Given the description of an element on the screen output the (x, y) to click on. 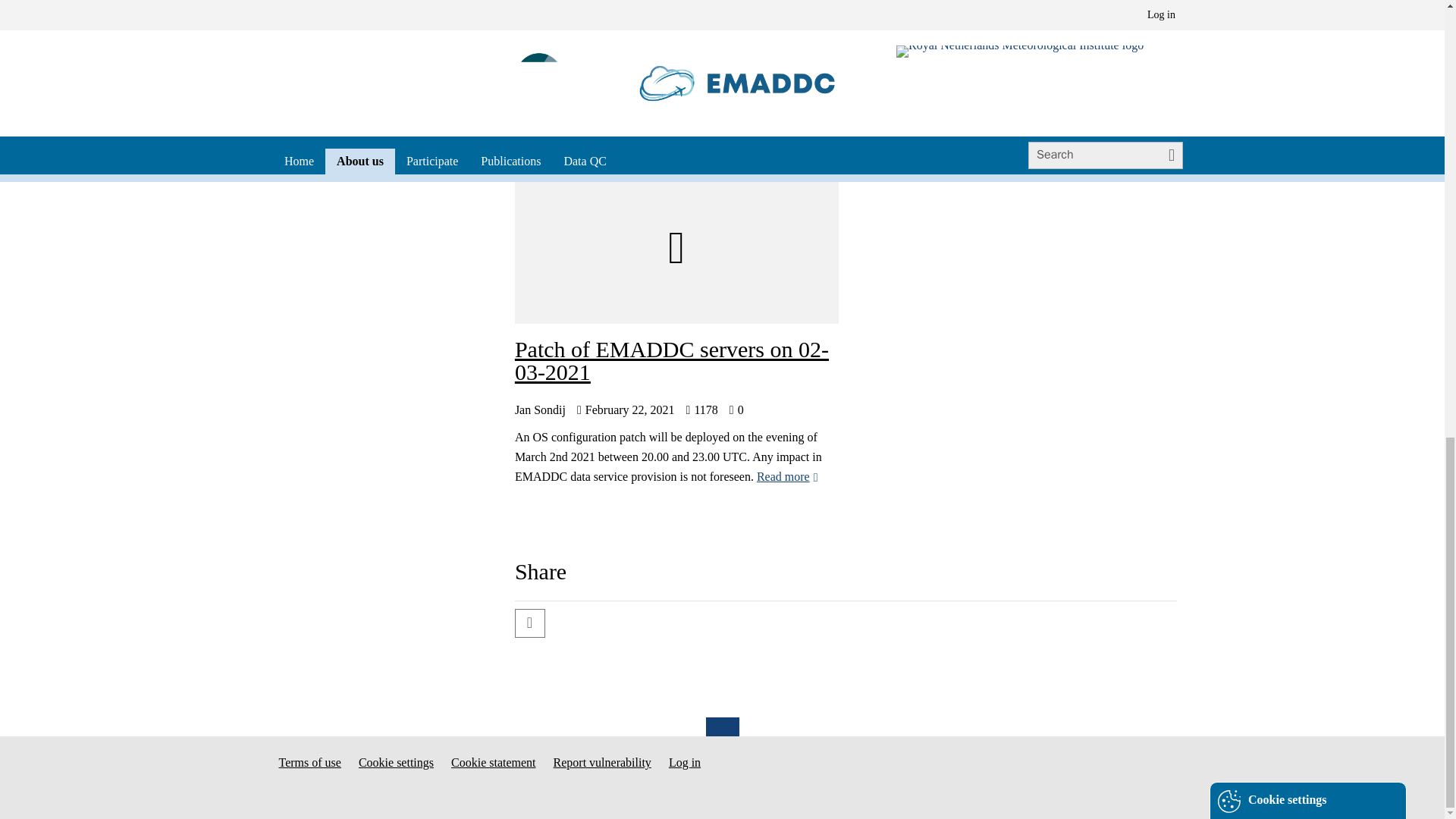
View post (1082, 112)
Deel deze pagina via E-mail (528, 624)
View post (787, 476)
View post (571, 112)
